Given the description of an element on the screen output the (x, y) to click on. 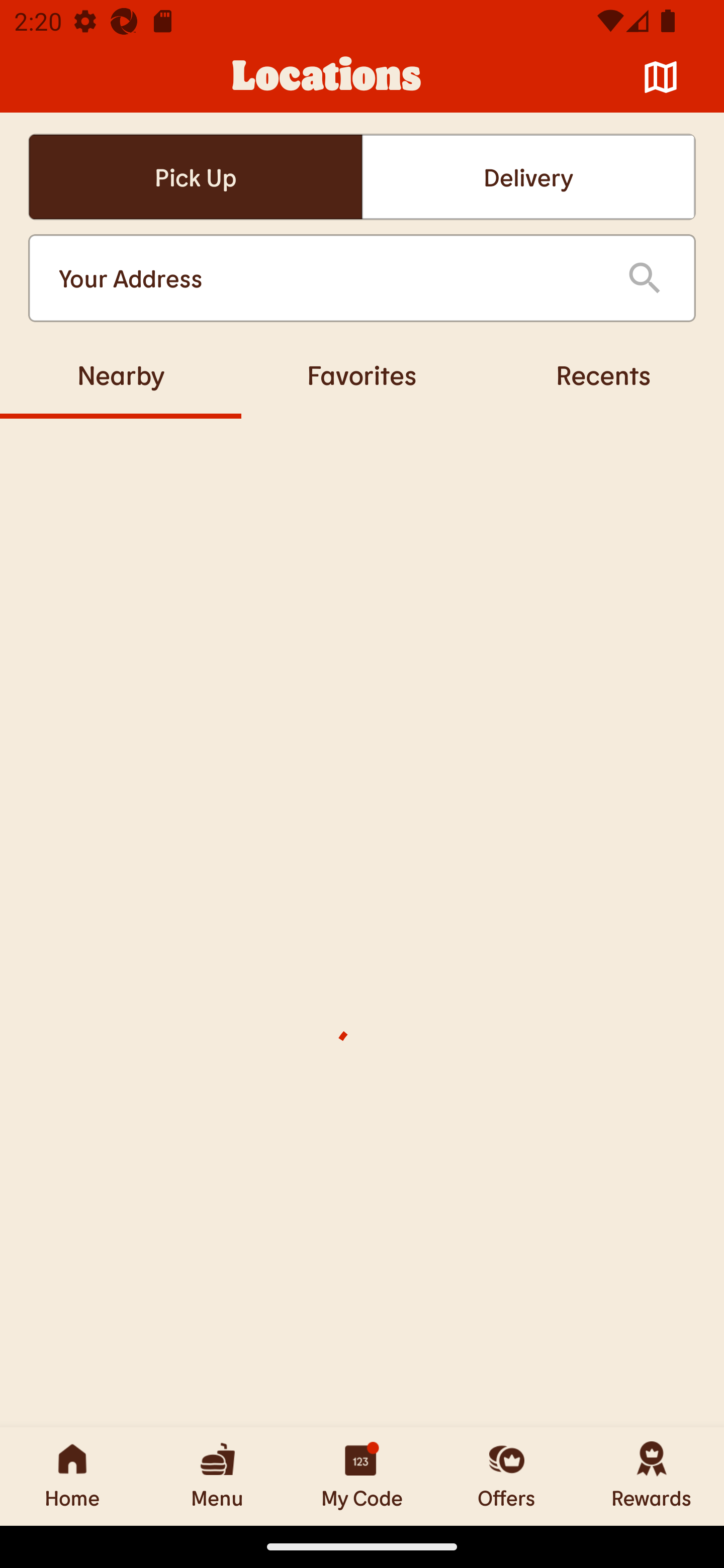
Map 󰦂 (660, 77)
Locations (326, 77)
Pick UpSelected Pick UpSelected Pick Up (195, 176)
Delivery Delivery Delivery (528, 176)
Your Address (327, 277)
Nearby (120, 374)
Favorites (361, 374)
Recents (603, 374)
Home (72, 1475)
Menu (216, 1475)
My Code (361, 1475)
Offers (506, 1475)
Rewards (651, 1475)
